Given the description of an element on the screen output the (x, y) to click on. 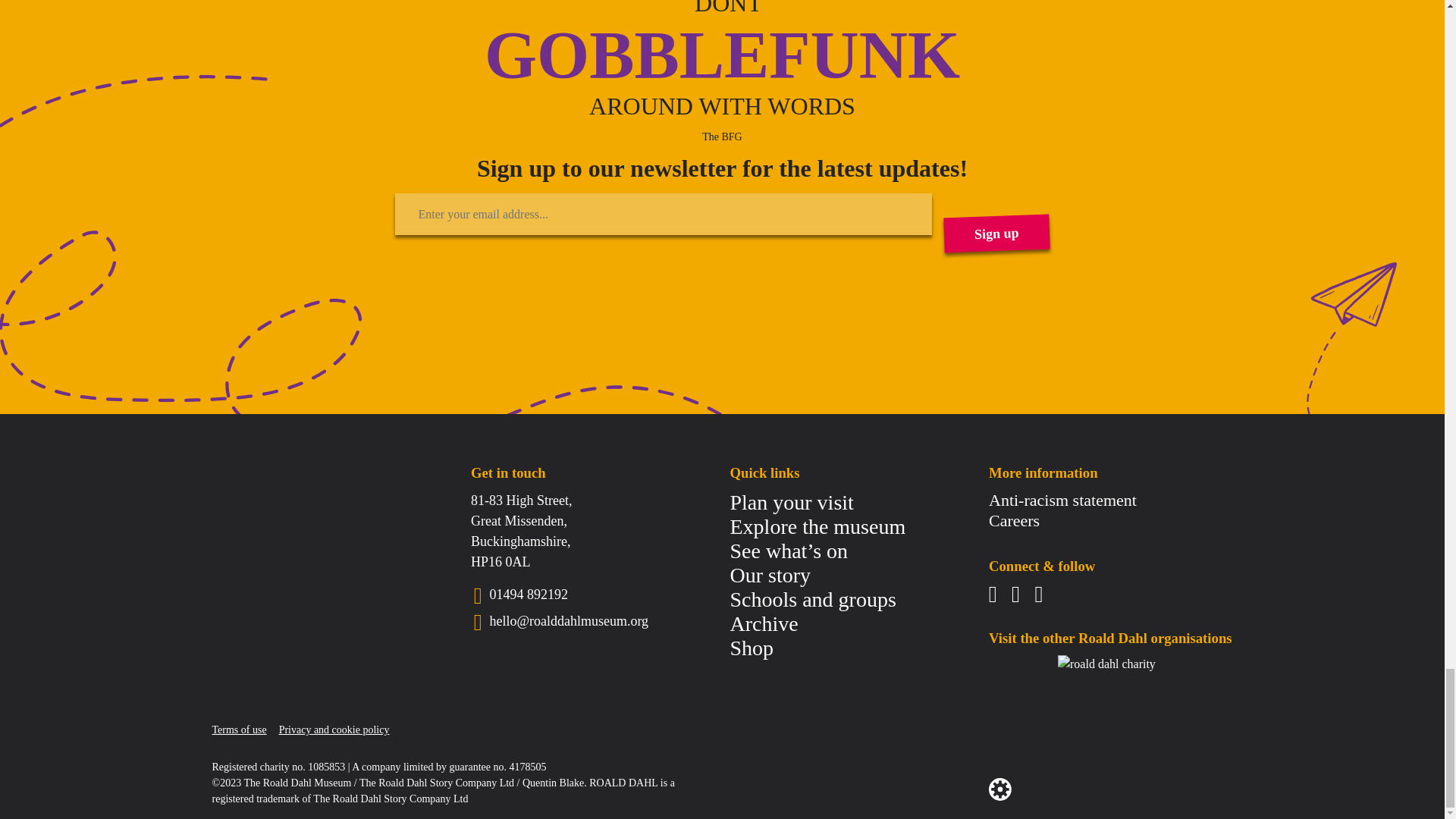
Sign up (995, 231)
